Given the description of an element on the screen output the (x, y) to click on. 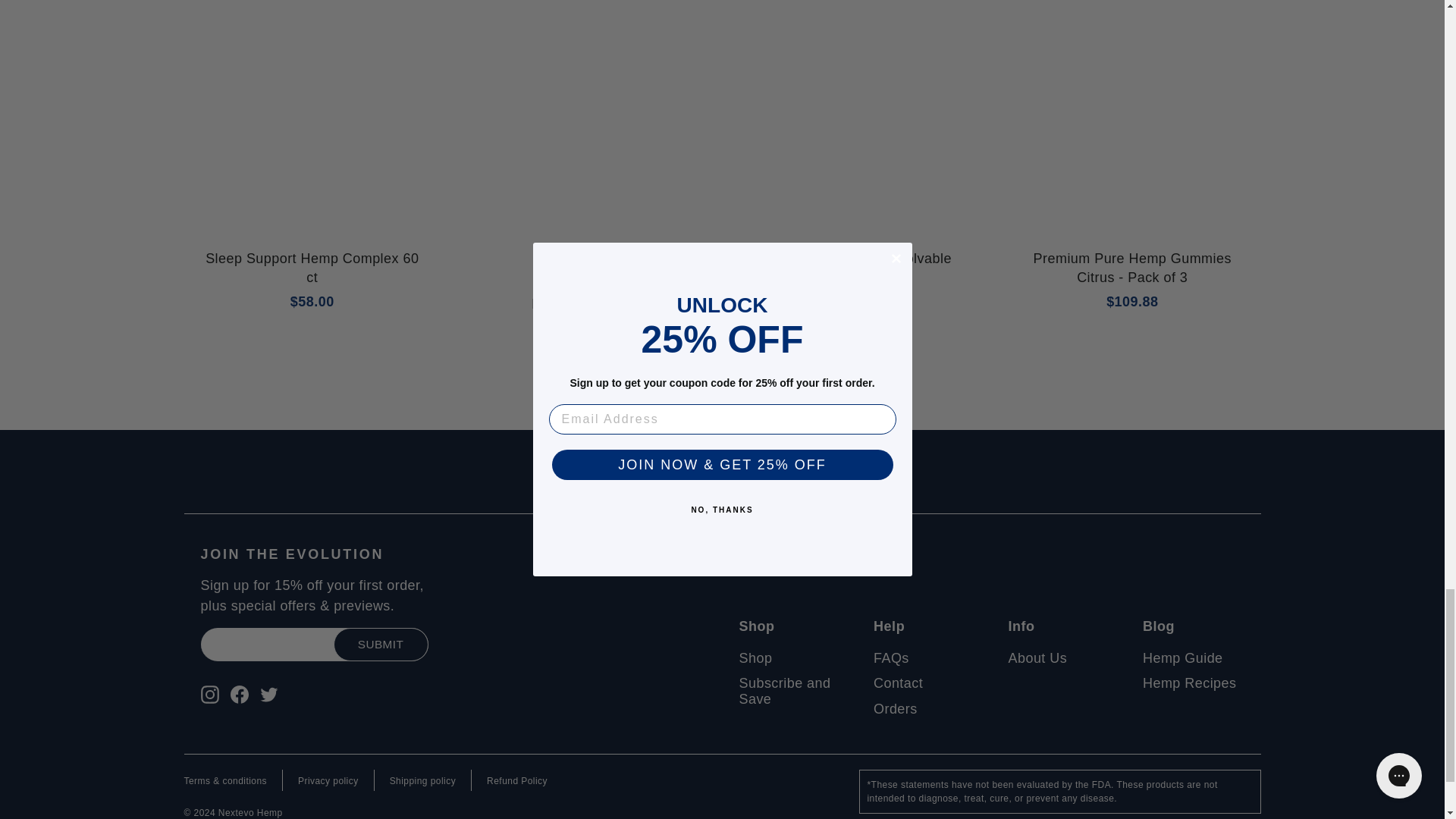
Nextevo Hemp on Twitter (268, 693)
Nextevo Hemp on Facebook (239, 693)
Nextevo Hemp on Instagram (209, 693)
